Given the description of an element on the screen output the (x, y) to click on. 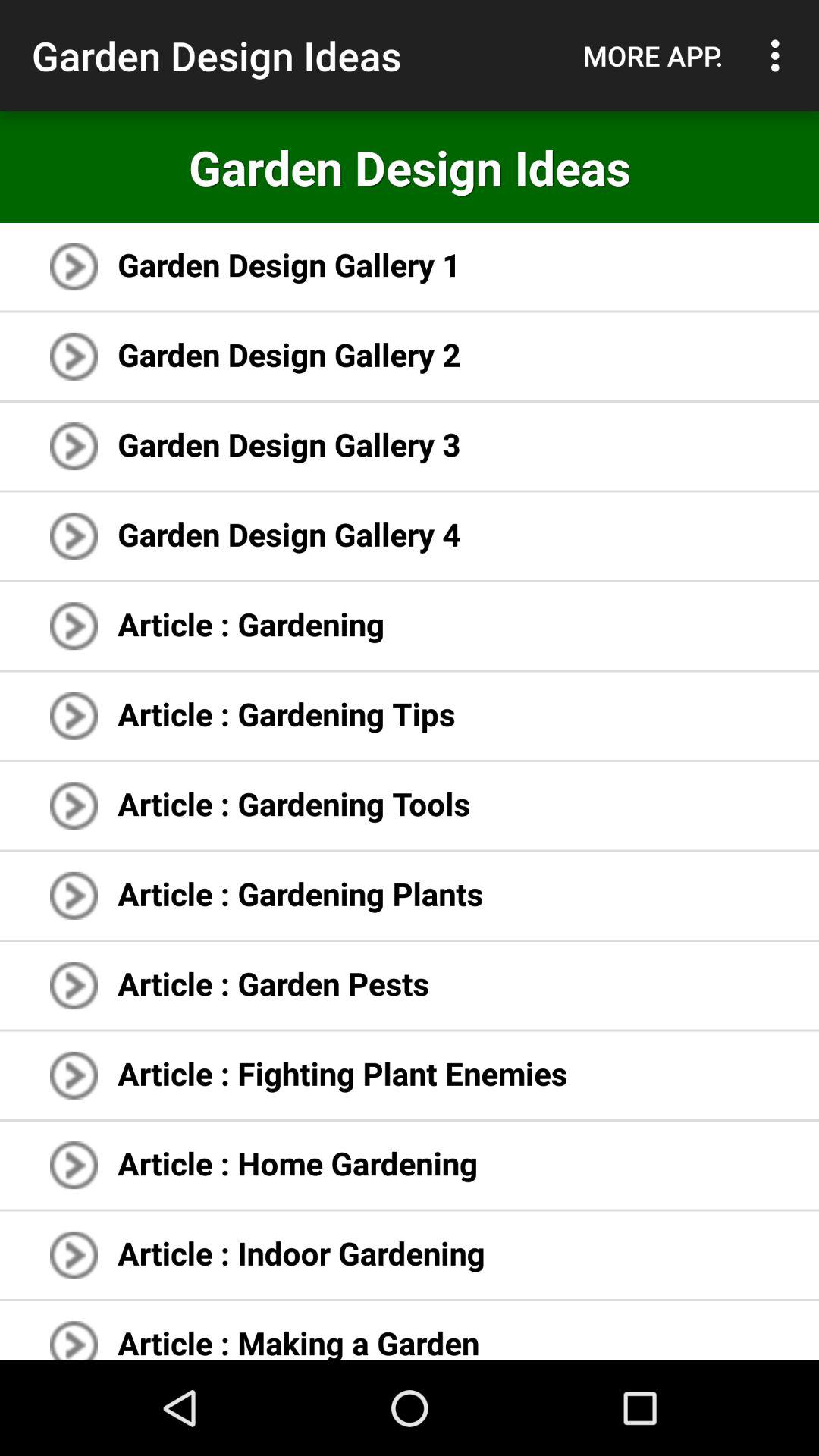
turn off icon next to more app. icon (779, 55)
